Given the description of an element on the screen output the (x, y) to click on. 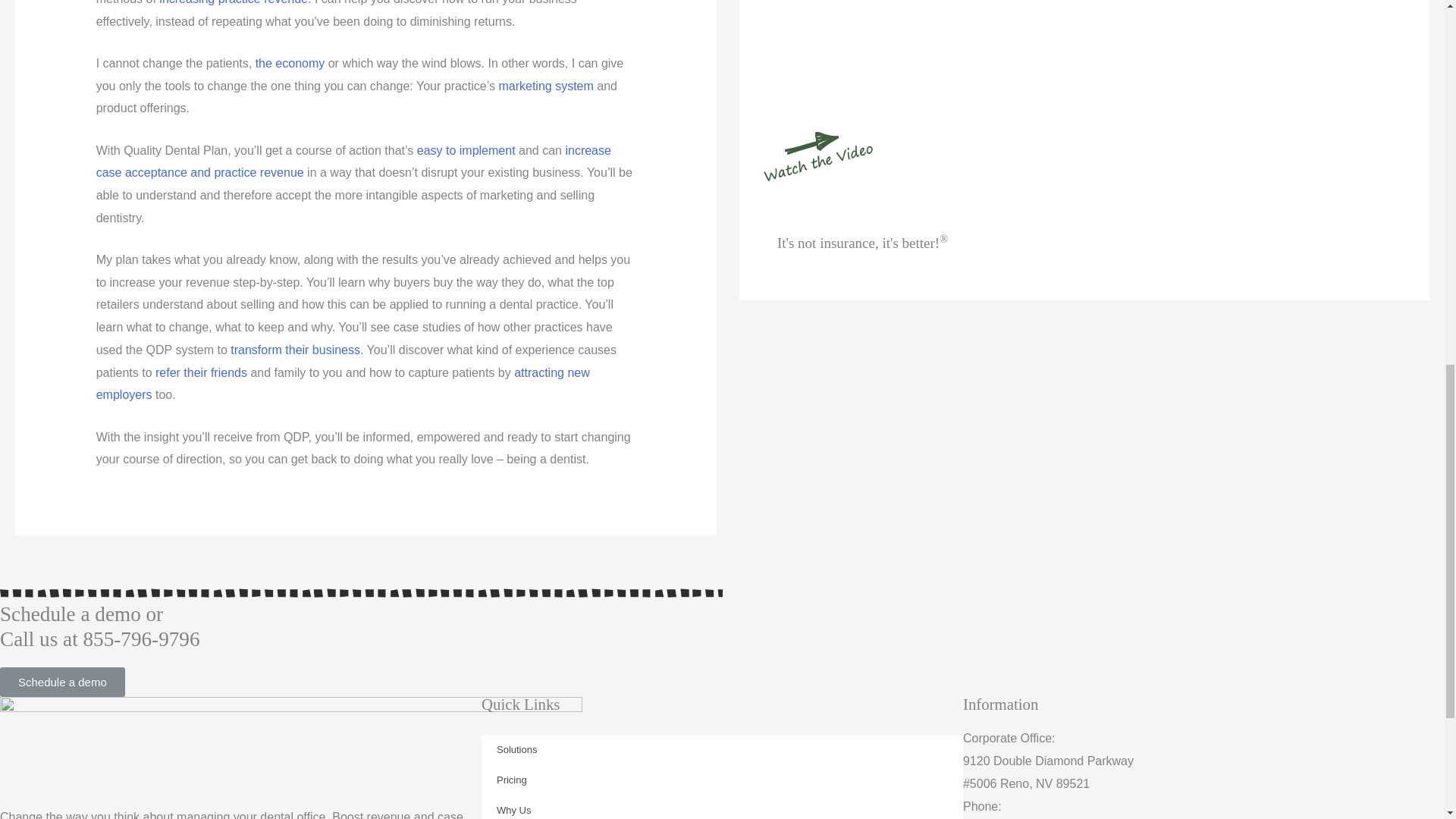
Pricing (721, 779)
increasing practice revenue (232, 2)
marketing system (544, 85)
the economy (290, 62)
855-796-9796 (141, 639)
What Doctors are Saying about Quality Dental Plan (294, 349)
Solutions (721, 749)
Shift to a Consultative Approach (353, 161)
attracting new employers (342, 384)
transform their business (294, 349)
